Given the description of an element on the screen output the (x, y) to click on. 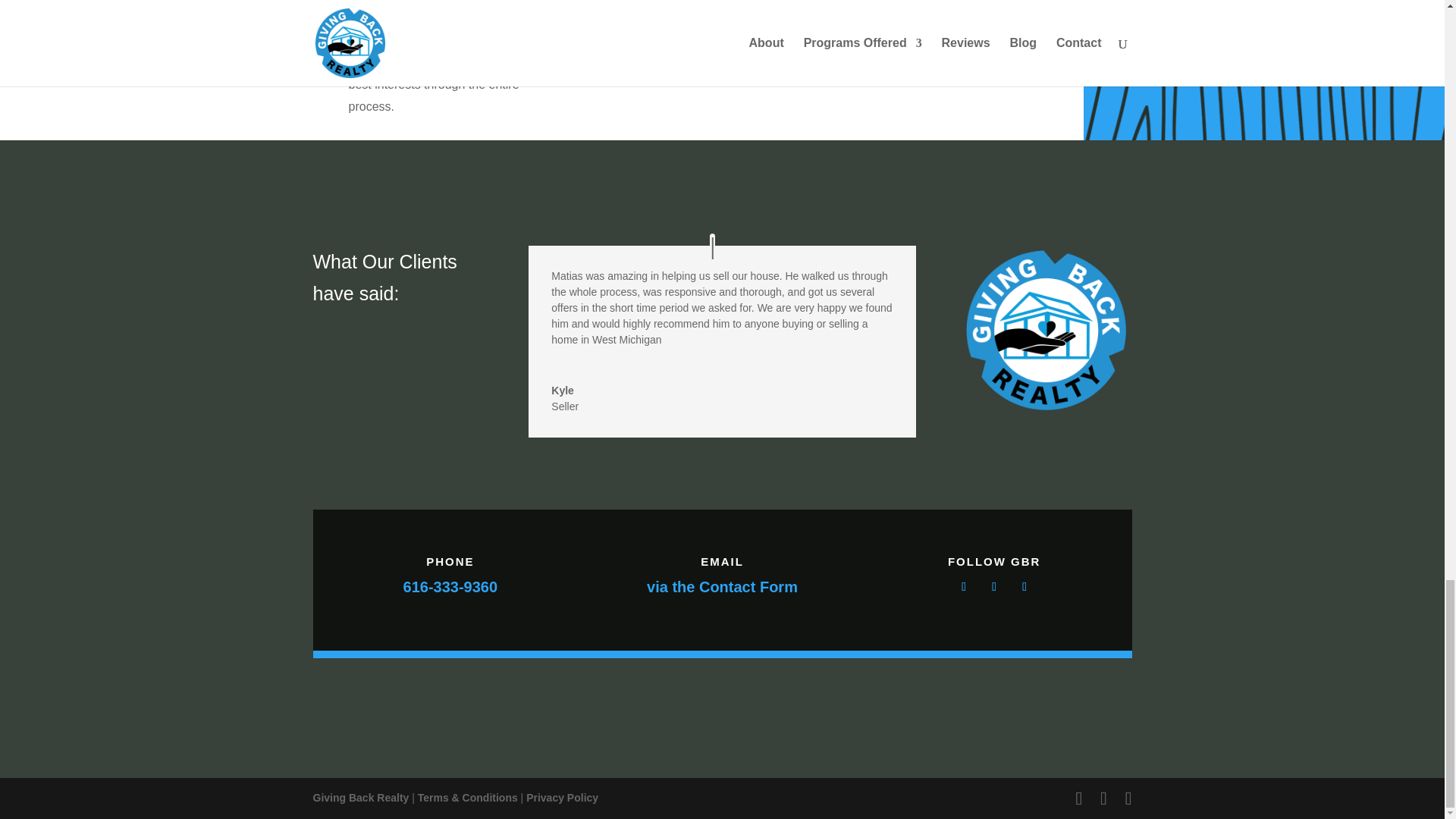
Follow on Youtube (1023, 586)
cropped-Giving-Back-Realty-Color.png (1045, 330)
Privacy Policy (561, 797)
Follow on Instagram (993, 586)
via the Contact Form (721, 586)
616-333-9360 (450, 586)
Giving Back Realty (361, 797)
Follow on Facebook (963, 586)
